Given the description of an element on the screen output the (x, y) to click on. 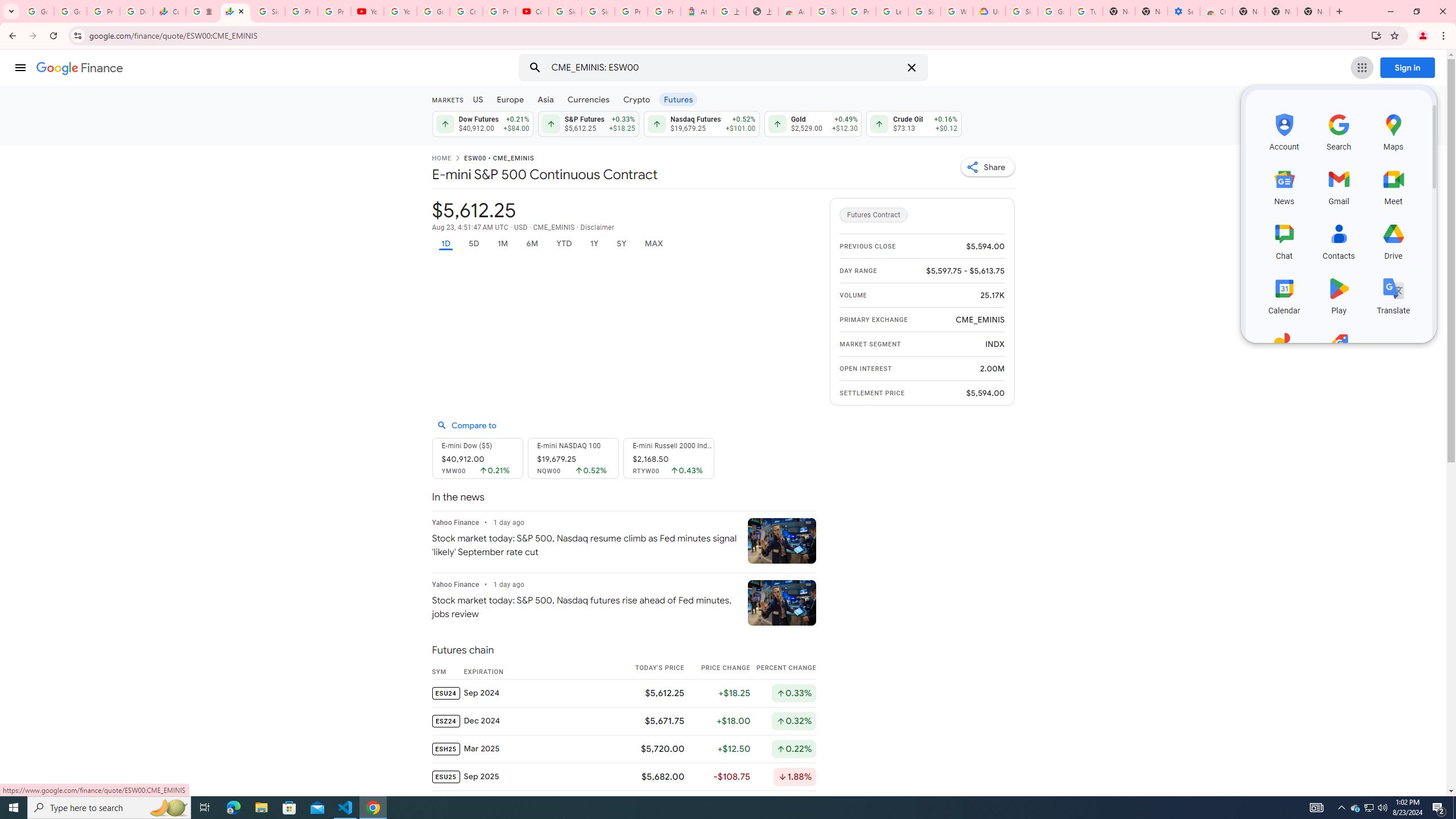
Disclaimer (596, 227)
Europe (510, 99)
Nasdaq Futures $19,679.25 Up by 0.52% +$101.00 (701, 123)
